Given the description of an element on the screen output the (x, y) to click on. 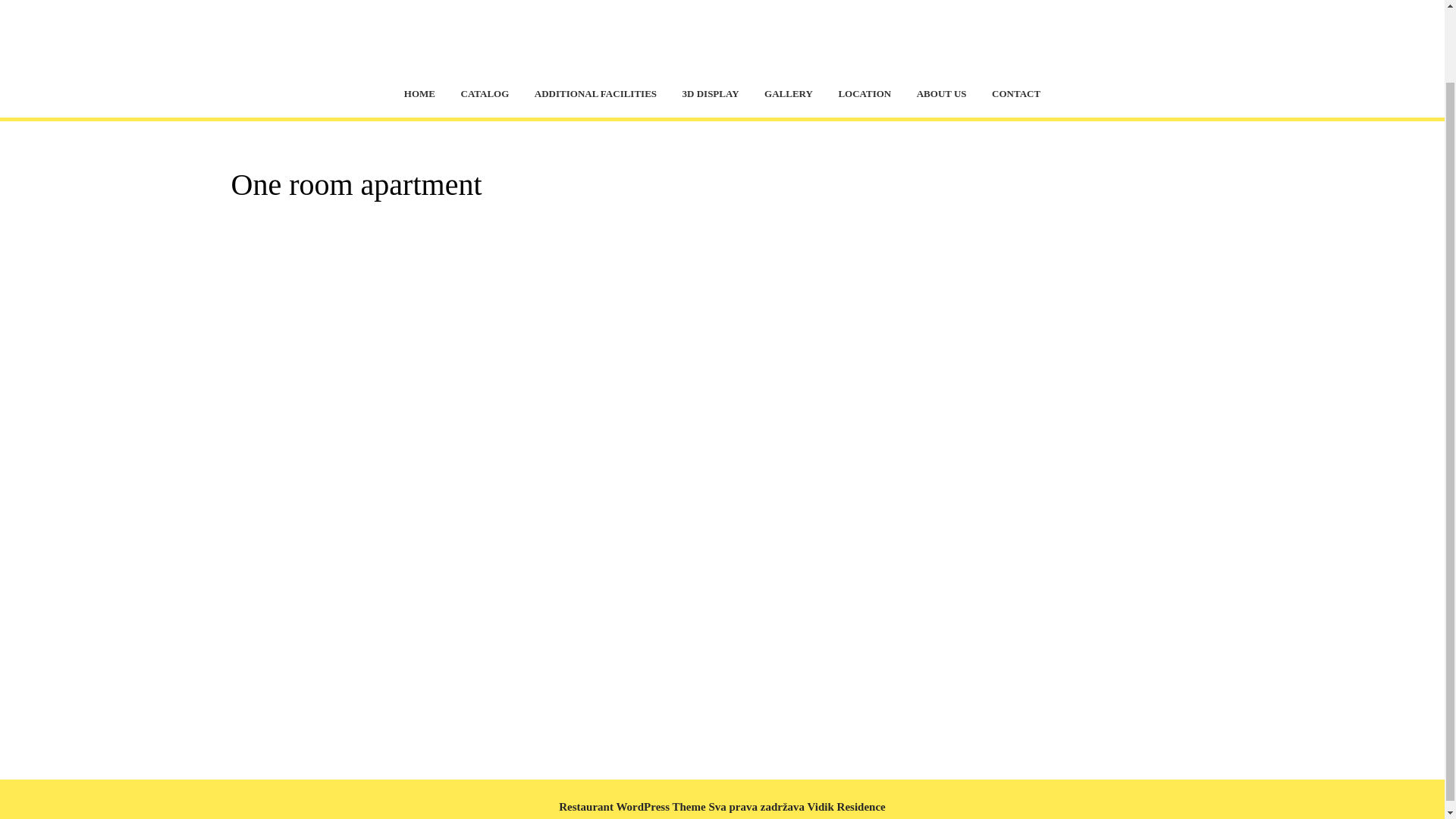
ADDITIONAL FACILITIES (595, 94)
CONTACT (1015, 94)
Restaurant WordPress Theme (631, 806)
ABOUT US (941, 94)
HOME (419, 94)
CATALOG (485, 94)
GALLERY (788, 94)
3D DISPLAY (711, 94)
LOCATION (864, 94)
